Given the description of an element on the screen output the (x, y) to click on. 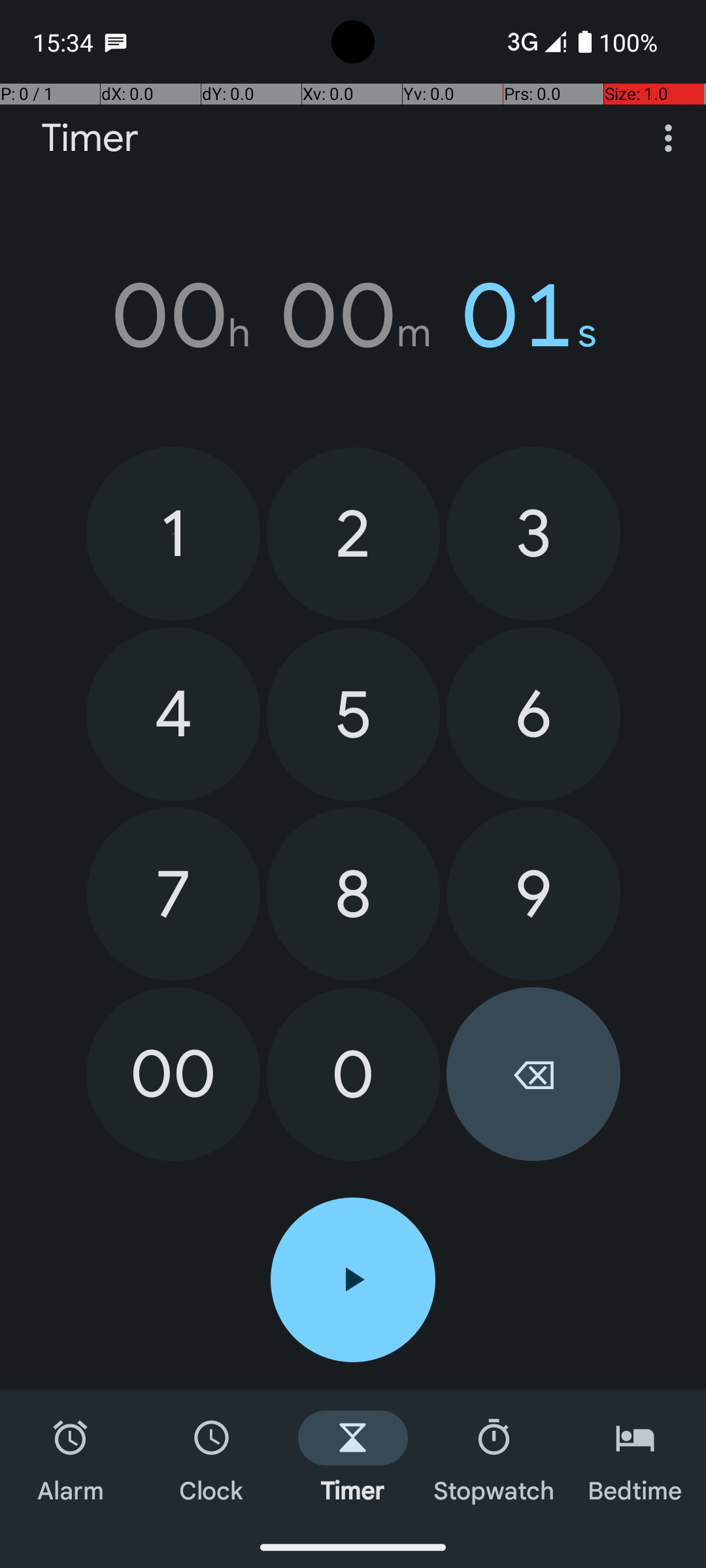
00h 00m 01s Element type: android.widget.TextView (353, 315)
0 Element type: android.widget.Button (352, 1073)
⌫ Element type: android.widget.Button (533, 1073)
Start Element type: android.widget.Button (352, 1279)
SMS Messenger notification: Matteo Ibrahim Element type: android.widget.ImageView (115, 41)
